Given the description of an element on the screen output the (x, y) to click on. 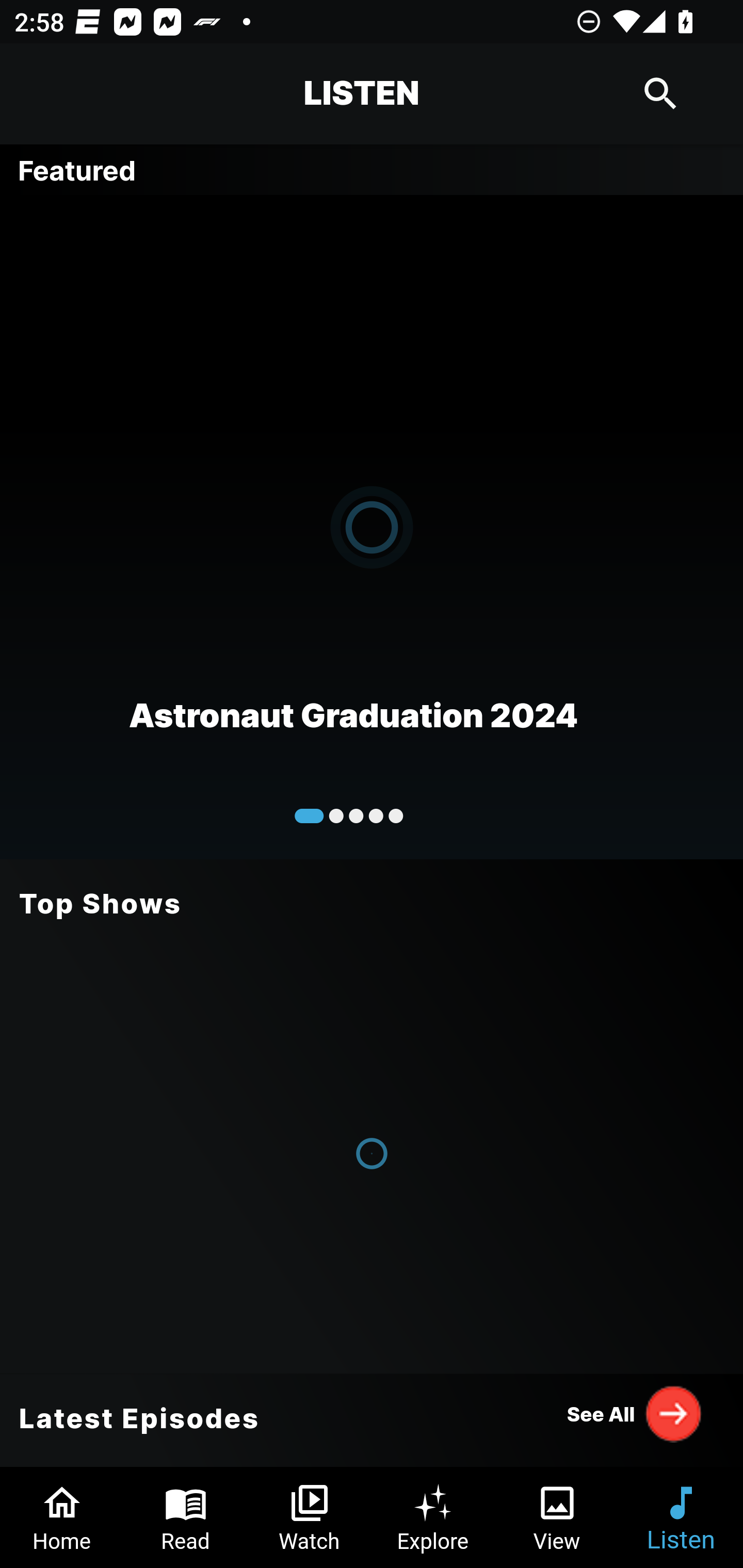
Astronaut Graduation 2024 (371, 526)
See All (634, 1413)
Home
Tab 1 of 6 (62, 1517)
Read
Tab 2 of 6 (185, 1517)
Watch
Tab 3 of 6 (309, 1517)
Explore
Tab 4 of 6 (433, 1517)
View
Tab 5 of 6 (556, 1517)
Listen
Tab 6 of 6 (680, 1517)
